Given the description of an element on the screen output the (x, y) to click on. 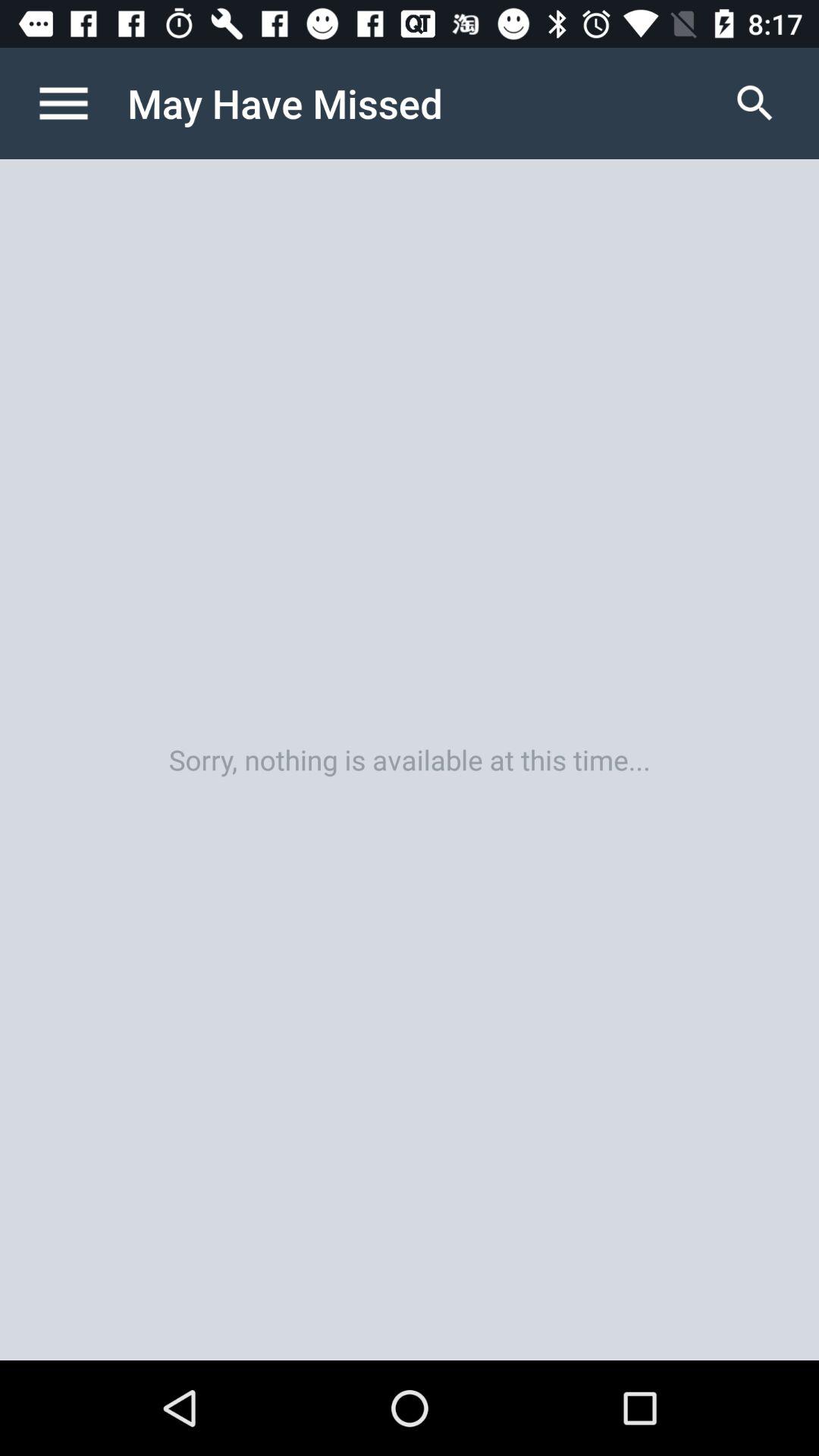
choose the item next to the may have missed icon (755, 103)
